Given the description of an element on the screen output the (x, y) to click on. 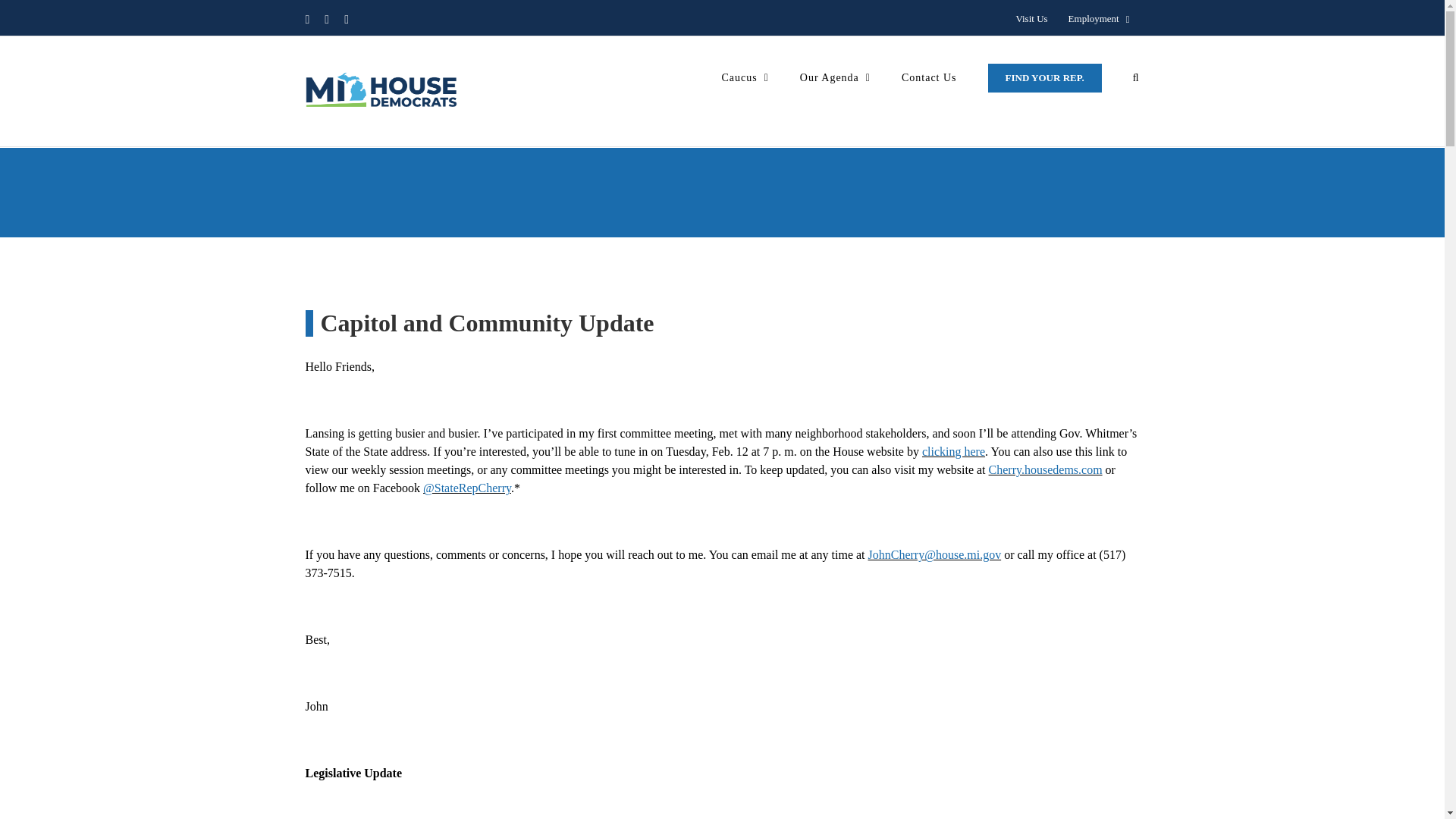
Our Agenda (834, 78)
Visit Us (1031, 19)
FIND YOUR REP. (1045, 78)
Employment (1099, 19)
